Given the description of an element on the screen output the (x, y) to click on. 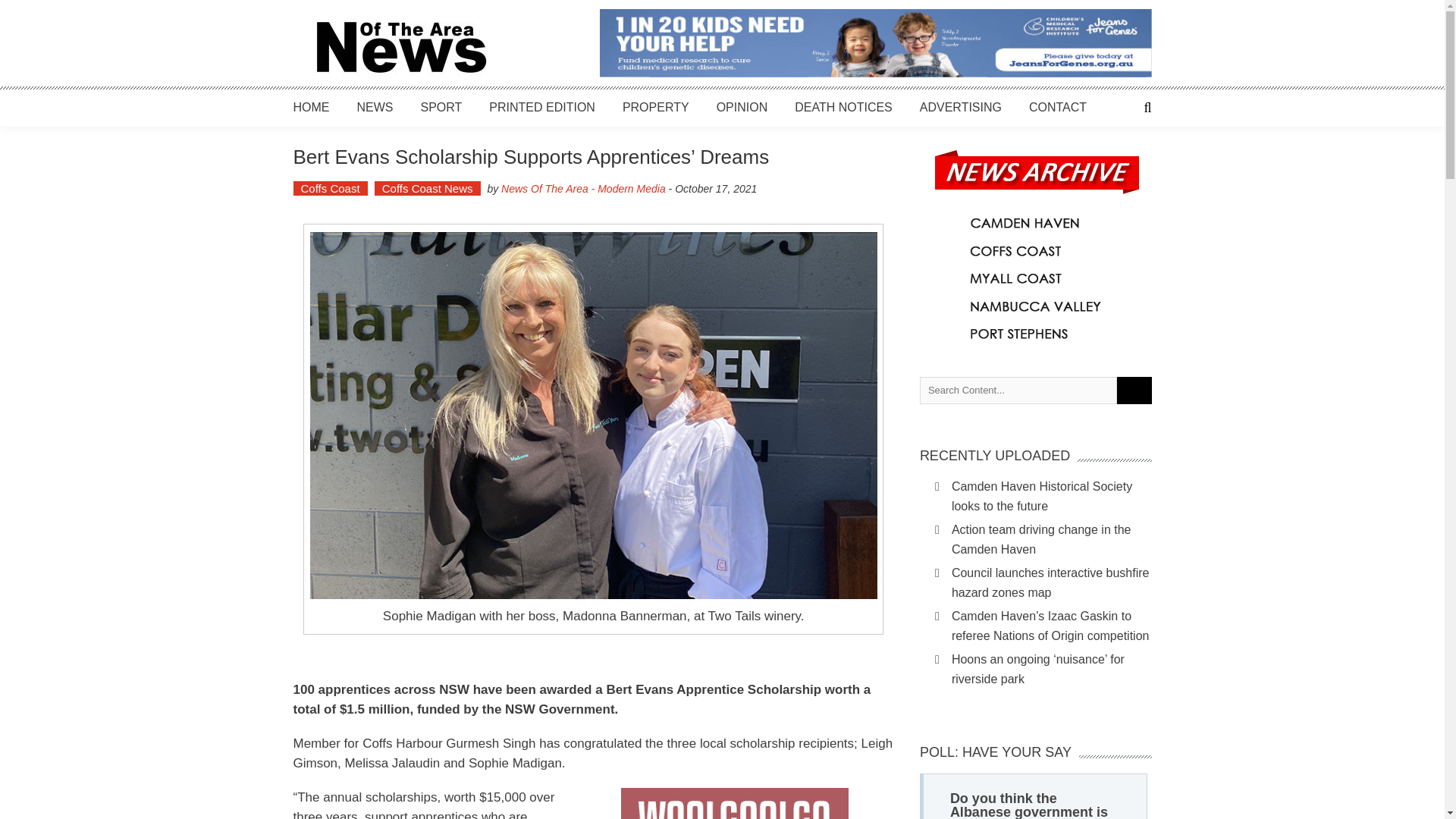
SPORT (440, 106)
NEWS (374, 106)
PROPERTY (655, 106)
HOME (310, 106)
PRINTED EDITION (542, 106)
Search for: (1018, 390)
Skip to content (37, 8)
